Given the description of an element on the screen output the (x, y) to click on. 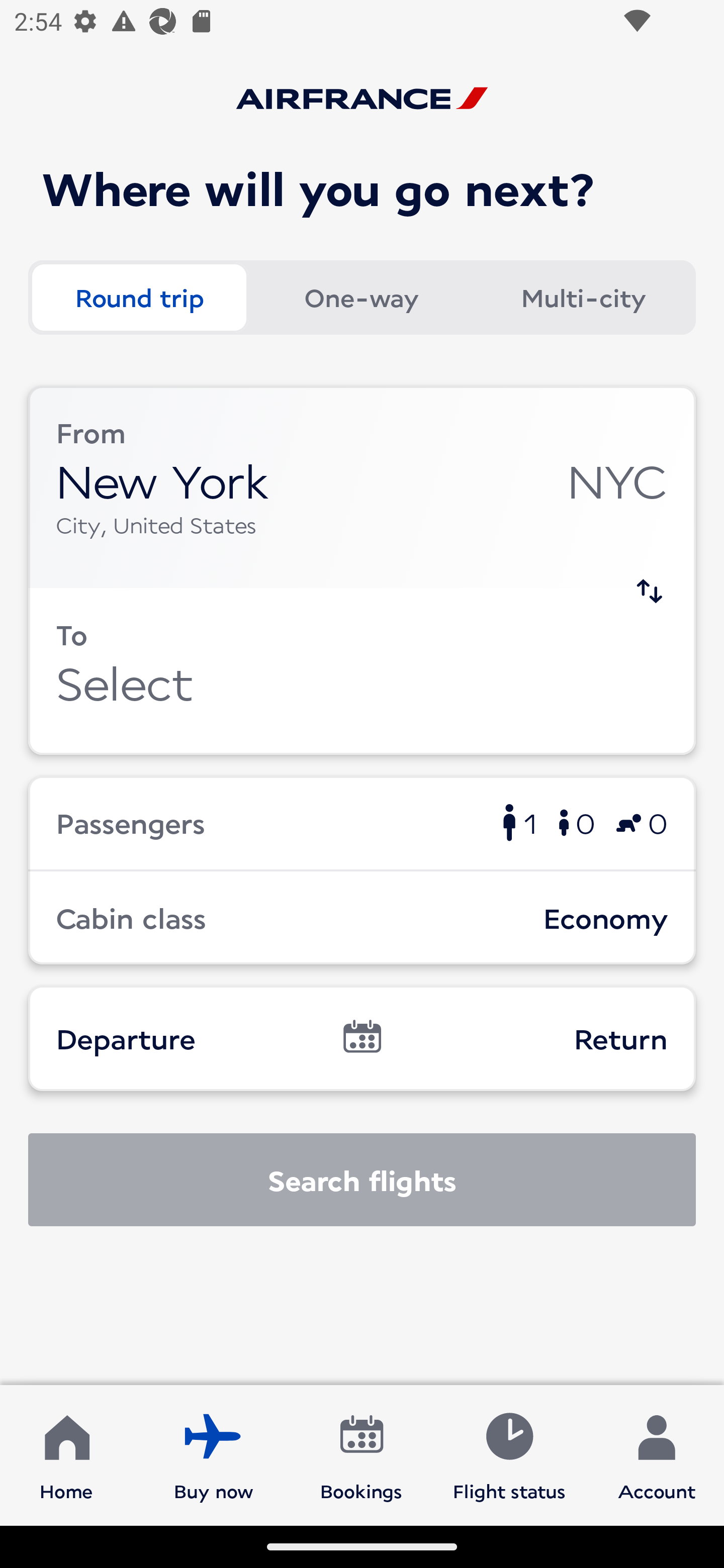
Round trip (139, 297)
One-way (361, 297)
Multi-city (583, 297)
From New York NYC City, United States (361, 486)
To Select (361, 671)
Passengers 1 0 0 (361, 822)
Cabin class Economy (361, 917)
Departure Return (361, 1038)
Search flights (361, 1179)
Home (66, 1454)
Bookings (361, 1454)
Flight status (509, 1454)
Account (657, 1454)
